Given the description of an element on the screen output the (x, y) to click on. 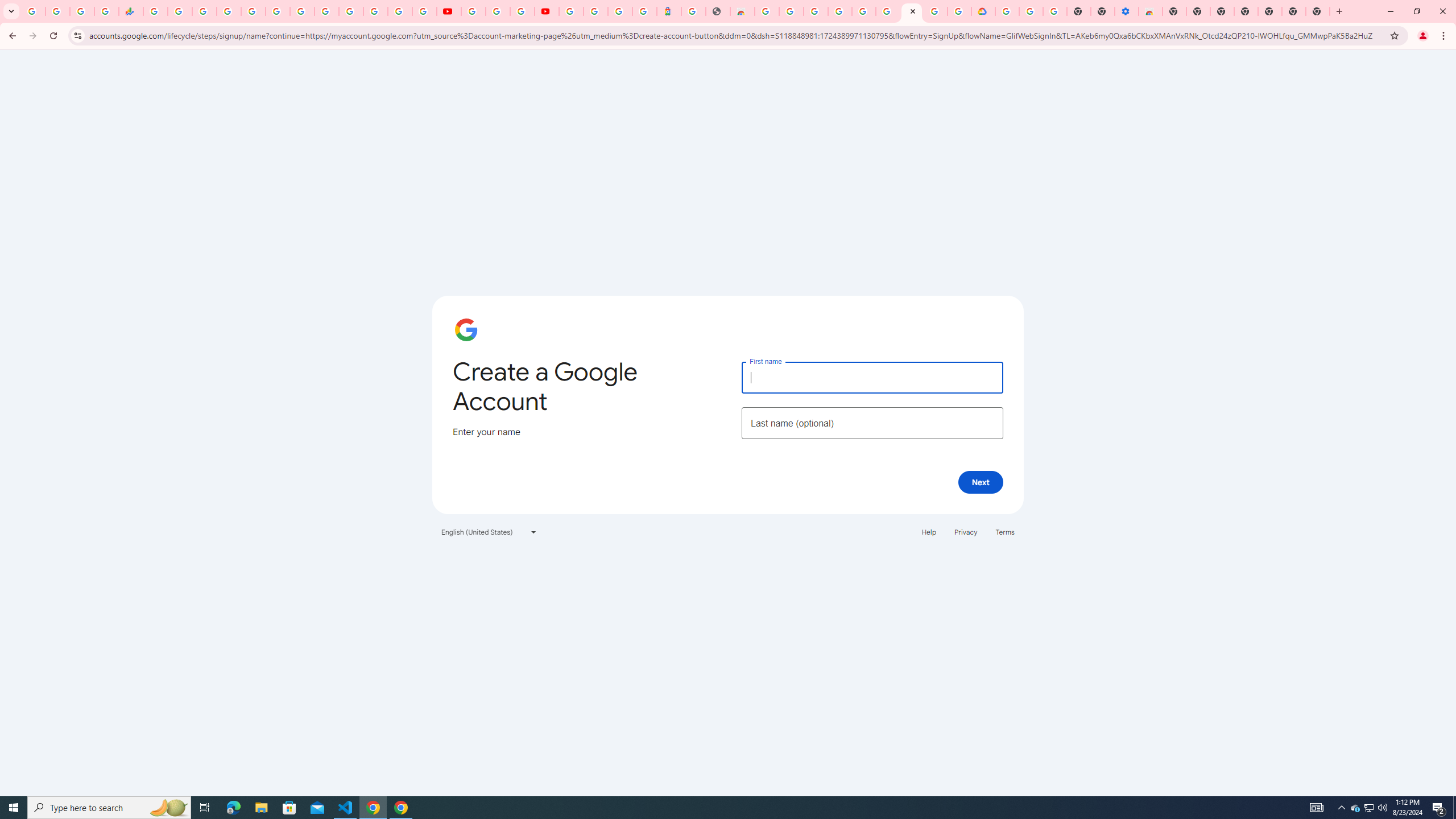
Android TV Policies and Guidelines - Transparency Center (302, 11)
Ad Settings (814, 11)
Sign in - Google Accounts (595, 11)
Google Account Help (863, 11)
Content Creator Programs & Opportunities - YouTube Creators (546, 11)
